Given the description of an element on the screen output the (x, y) to click on. 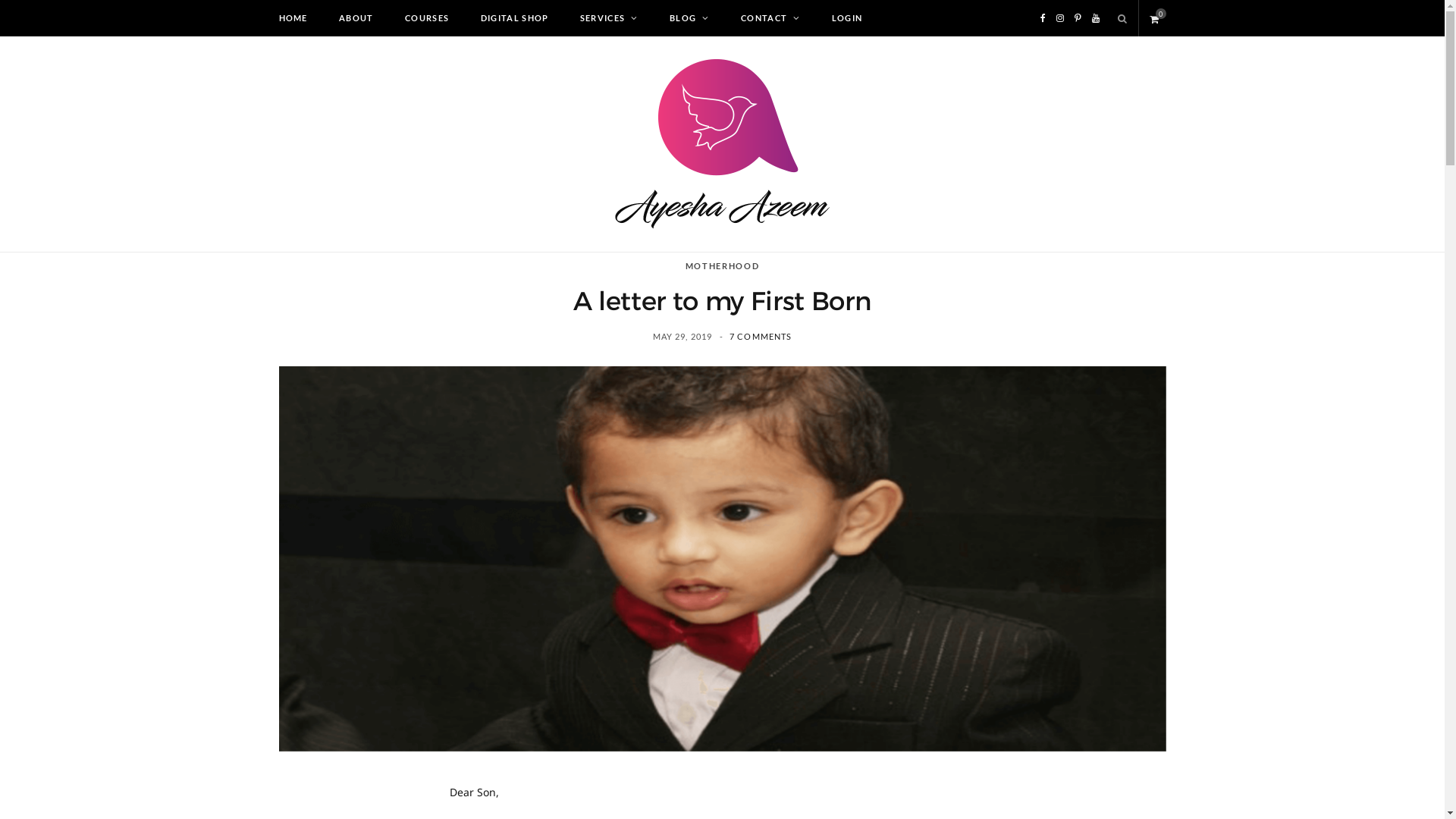
YouTube Element type: text (1095, 18)
MOTHERHOOD Element type: text (722, 266)
CONTACT Element type: text (770, 18)
Ayesha Azeem Element type: hover (722, 144)
Instagram Element type: text (1059, 18)
0
Shopping Cart Element type: text (1157, 18)
Facebook Element type: text (1042, 18)
SERVICES Element type: text (608, 18)
LOGIN Element type: text (847, 18)
HOME Element type: text (292, 18)
BLOG Element type: text (689, 18)
DIGITAL SHOP Element type: text (514, 18)
A letter to my First Born Element type: hover (722, 558)
Pinterest Element type: text (1077, 18)
MAY 29, 2019 Element type: text (683, 336)
7 COMMENTS Element type: text (760, 336)
COURSES Element type: text (426, 18)
ABOUT Element type: text (356, 18)
